Given the description of an element on the screen output the (x, y) to click on. 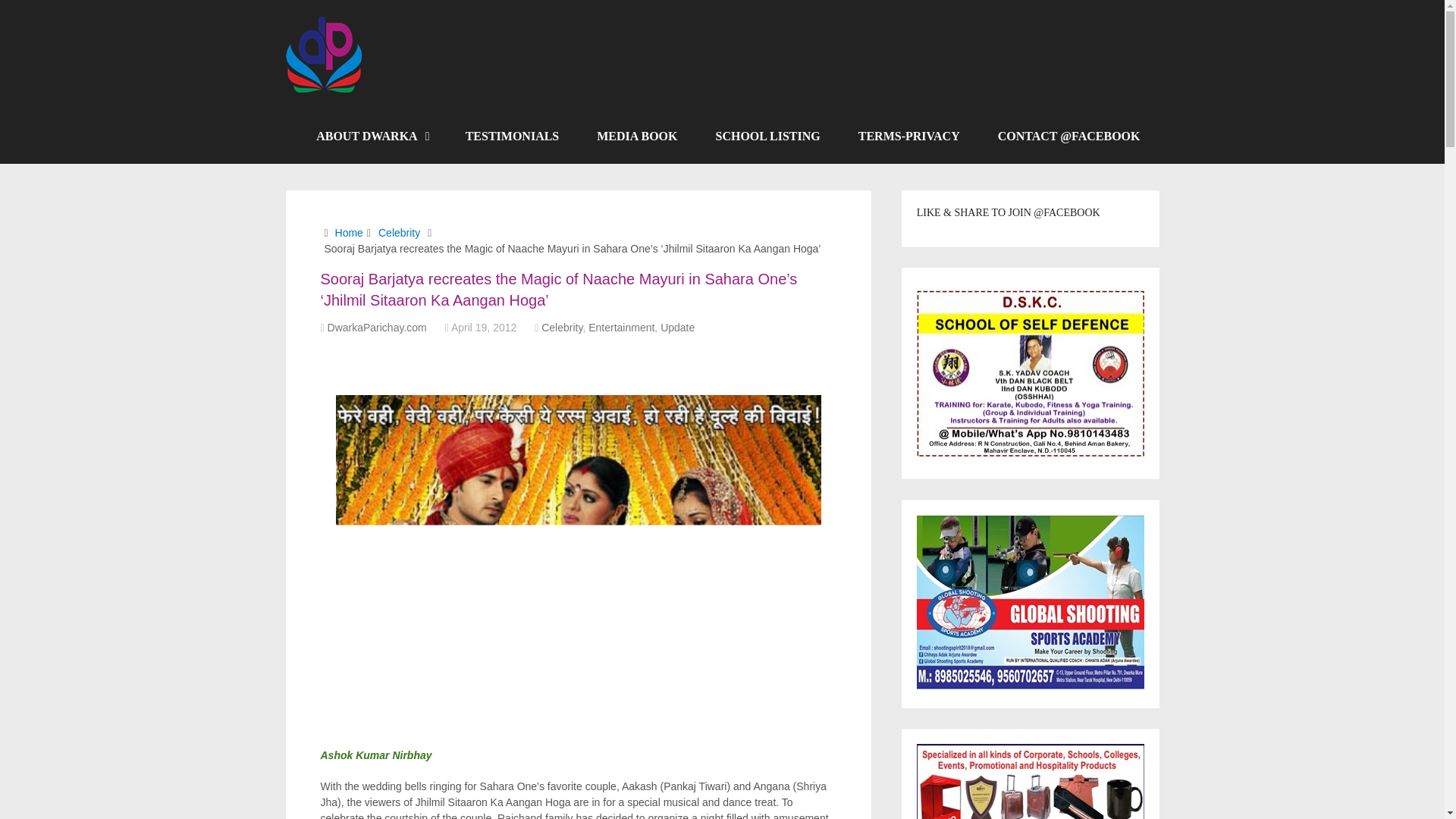
Celebrity (399, 232)
View all posts in Entertainment (620, 327)
Home (348, 232)
Celebrity (561, 327)
MEDIA BOOK (636, 135)
TESTIMONIALS (512, 135)
View all posts in Update (677, 327)
View all posts in Celebrity (561, 327)
Entertainment (620, 327)
Update (677, 327)
